Given the description of an element on the screen output the (x, y) to click on. 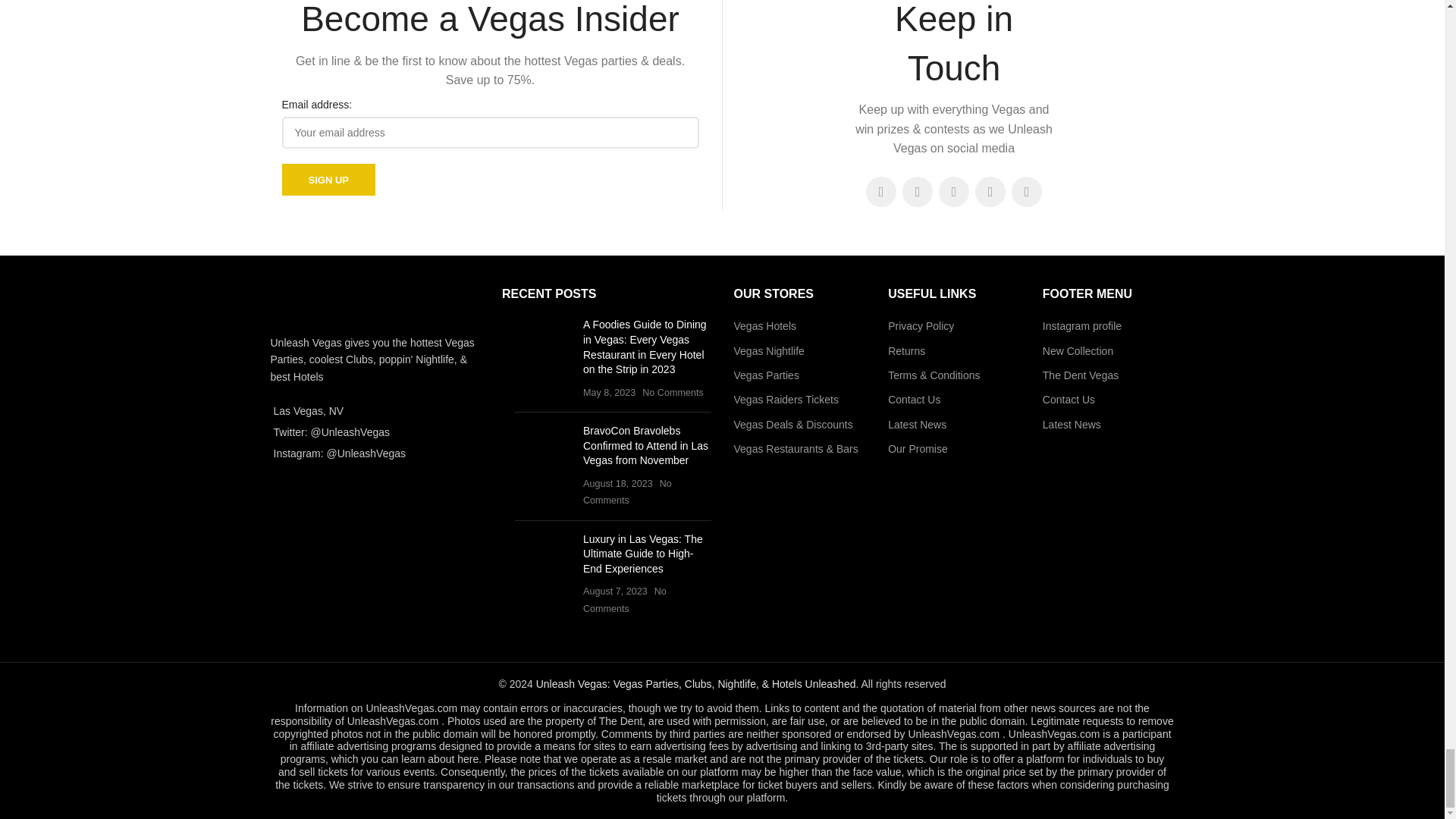
Sign up (328, 179)
